Given the description of an element on the screen output the (x, y) to click on. 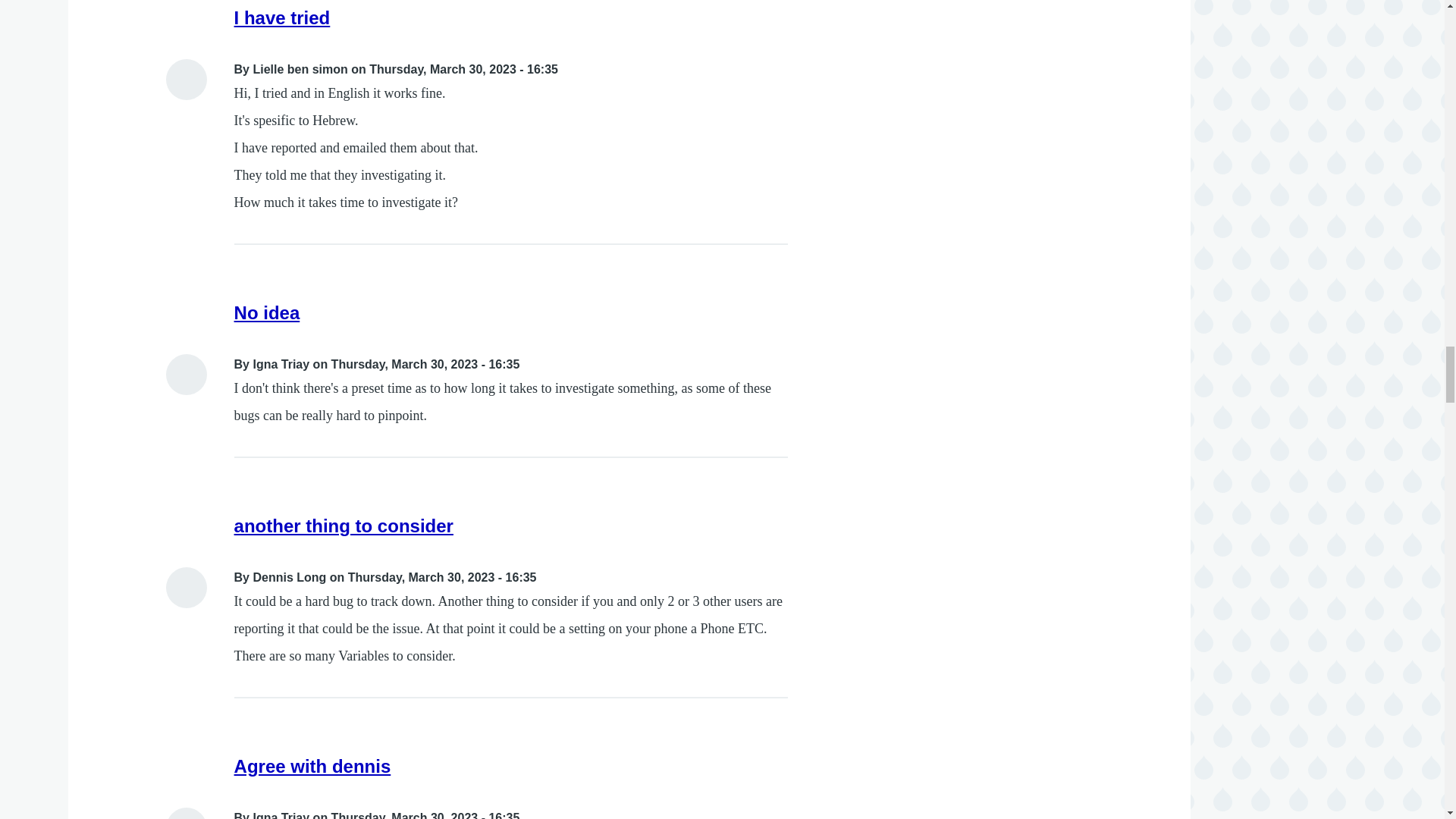
another thing to consider (343, 525)
I have tried (282, 17)
Agree with dennis (312, 765)
No idea (266, 312)
